Given the description of an element on the screen output the (x, y) to click on. 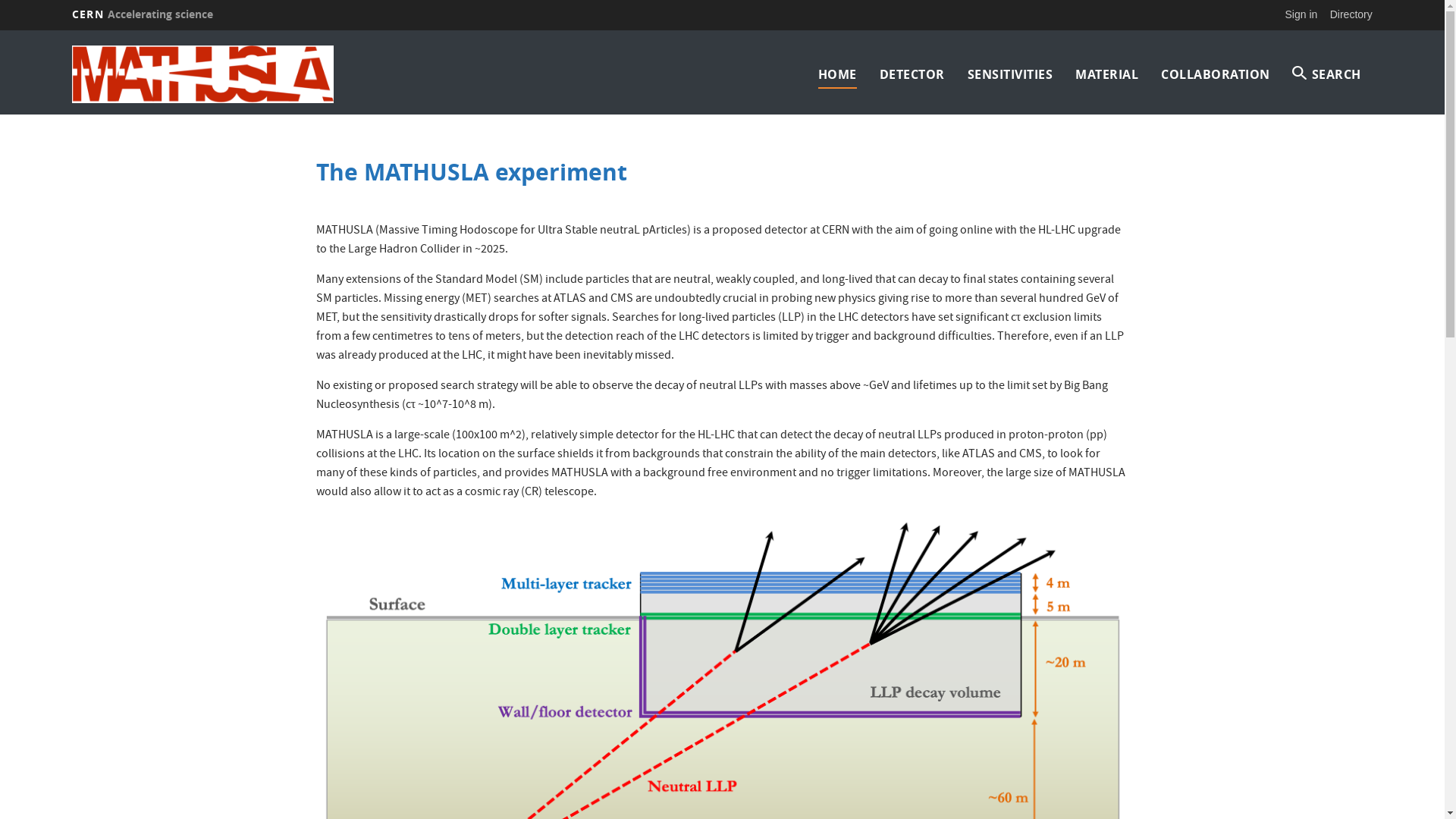
SENSITIVITIES Element type: text (1010, 74)
MATERIAL Element type: text (1106, 74)
Home Element type: hover (230, 74)
Directory Element type: text (1351, 14)
The MATHUSLA experiment Element type: text (471, 171)
Sign in Element type: text (1301, 14)
DETECTOR Element type: text (911, 74)
SEARCH Element type: text (1326, 74)
HOME Element type: text (837, 74)
CERN Accelerating science Element type: text (142, 14)
Skip to main content Element type: text (0, 30)
COLLABORATION Element type: text (1215, 74)
